Given the description of an element on the screen output the (x, y) to click on. 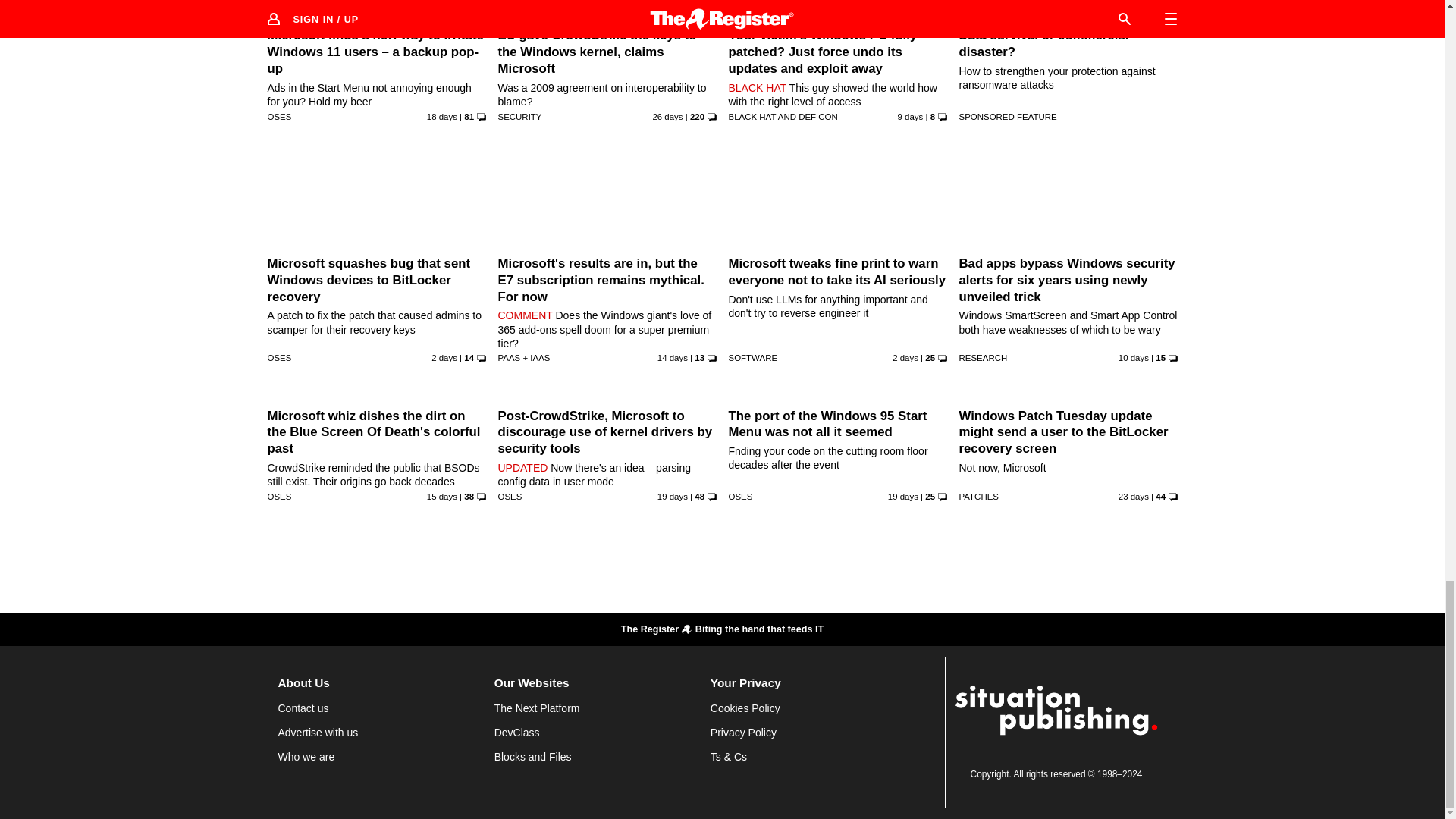
6 Aug 2024 14:41 (1133, 357)
14 Aug 2024 20:28 (905, 357)
29 Jul 2024 6:30 (672, 496)
8 Aug 2024 3:34 (910, 116)
2 Aug 2024 18:11 (672, 357)
22 Jul 2024 13:0 (667, 116)
2 Aug 2024 8:26 (441, 496)
29 Jul 2024 16:2 (441, 116)
14 Aug 2024 14:45 (443, 357)
